Given the description of an element on the screen output the (x, y) to click on. 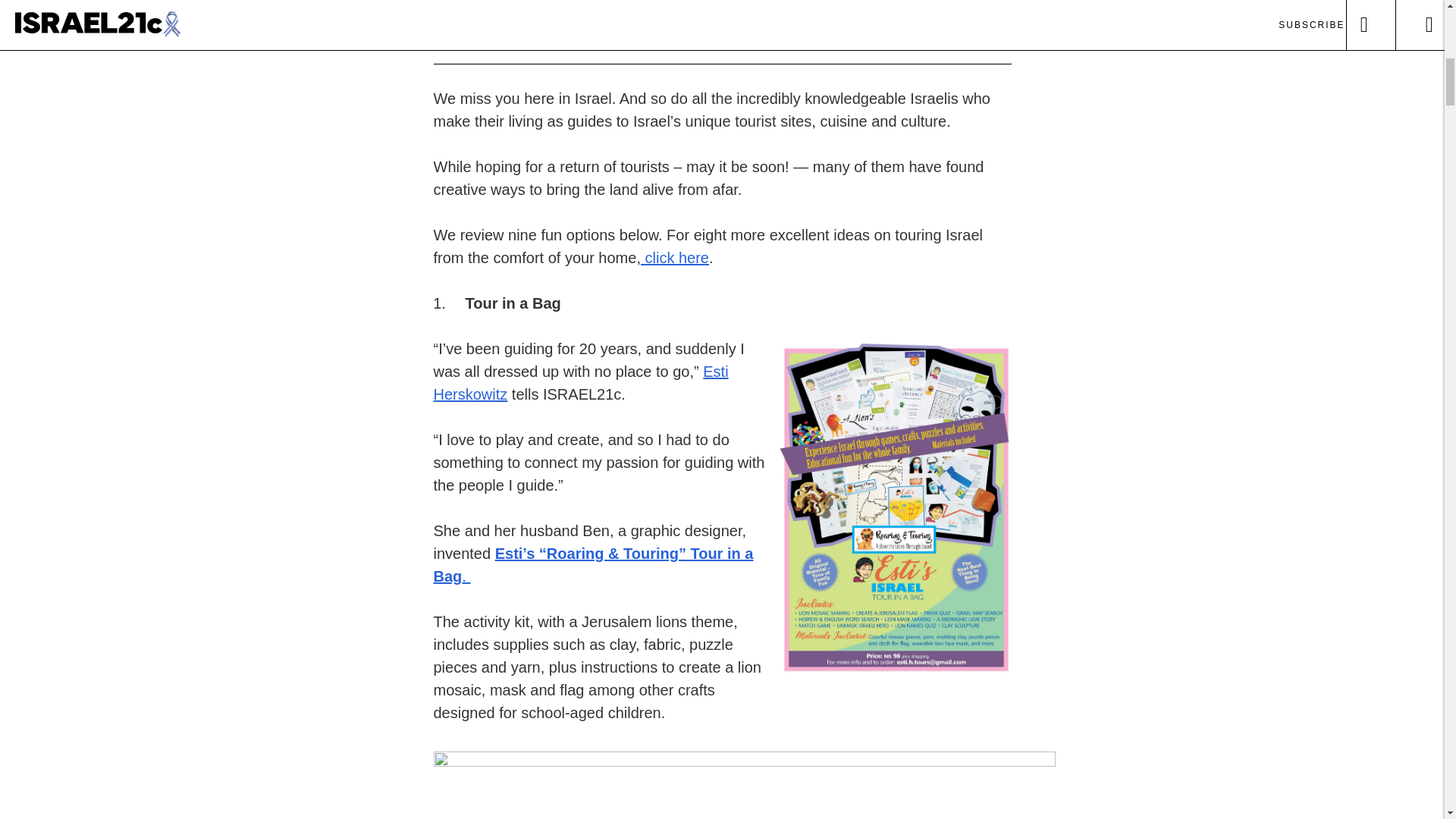
Abigail Klein Leichman (580, 6)
Abigail Klein Leichman (464, 39)
Abigail Klein Leichman (464, 22)
